Given the description of an element on the screen output the (x, y) to click on. 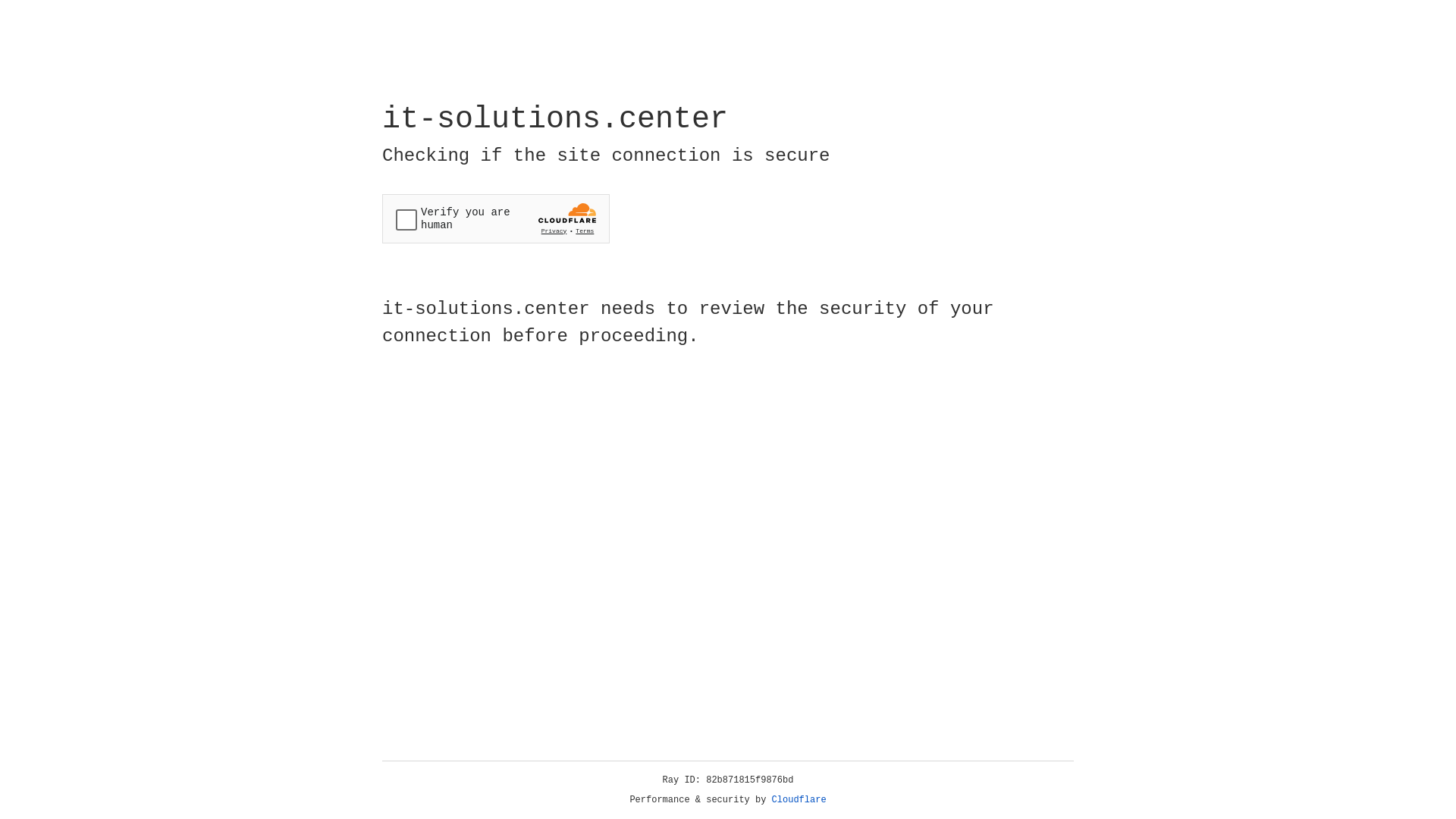
Widget containing a Cloudflare security challenge Element type: hover (495, 218)
Cloudflare Element type: text (798, 799)
